Given the description of an element on the screen output the (x, y) to click on. 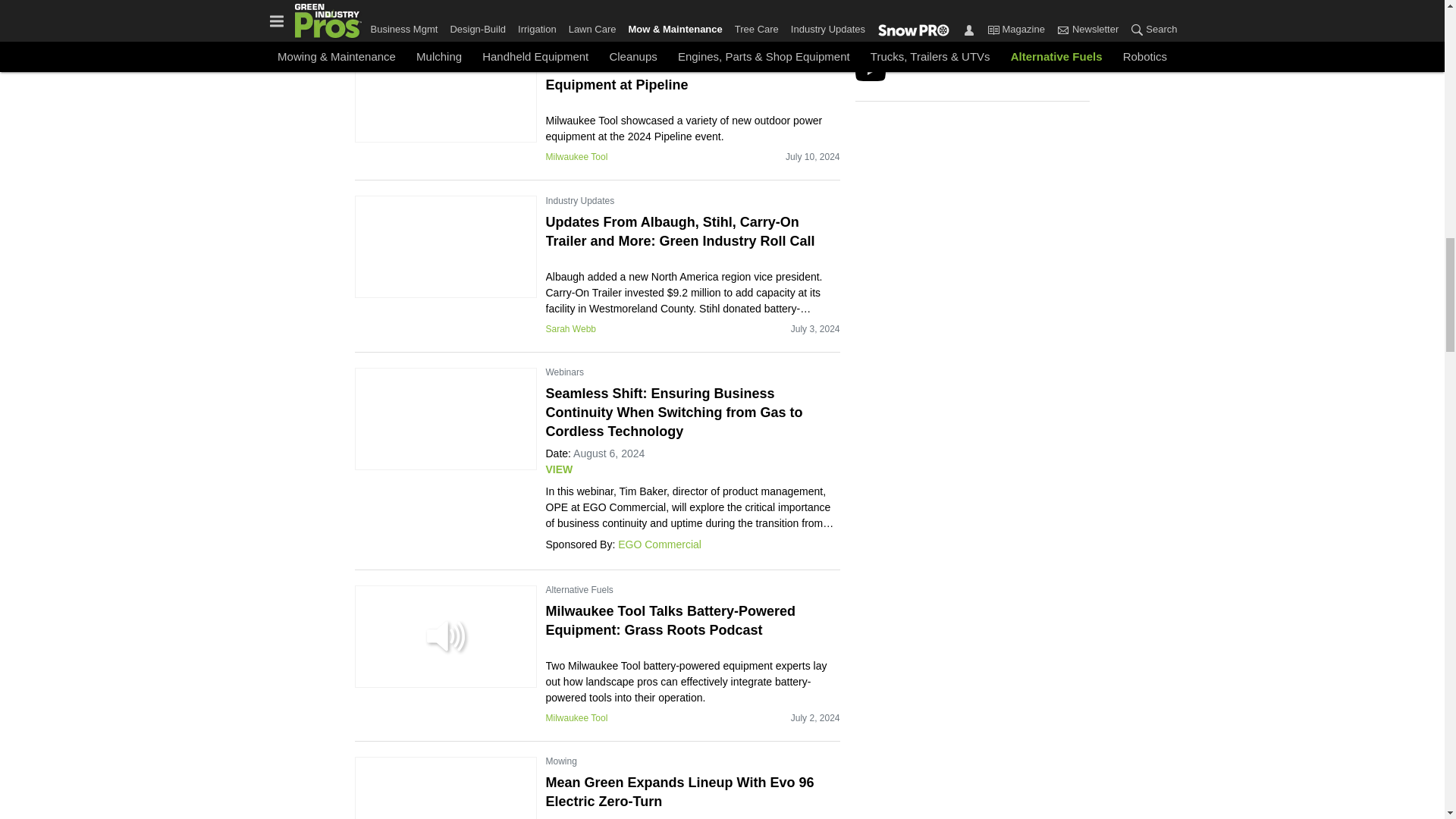
Flipboard icon (1037, 40)
Twitter X icon (911, 40)
LinkedIn icon (870, 40)
Facebook icon (955, 40)
Instagram icon (996, 40)
YouTube icon (870, 70)
